Given the description of an element on the screen output the (x, y) to click on. 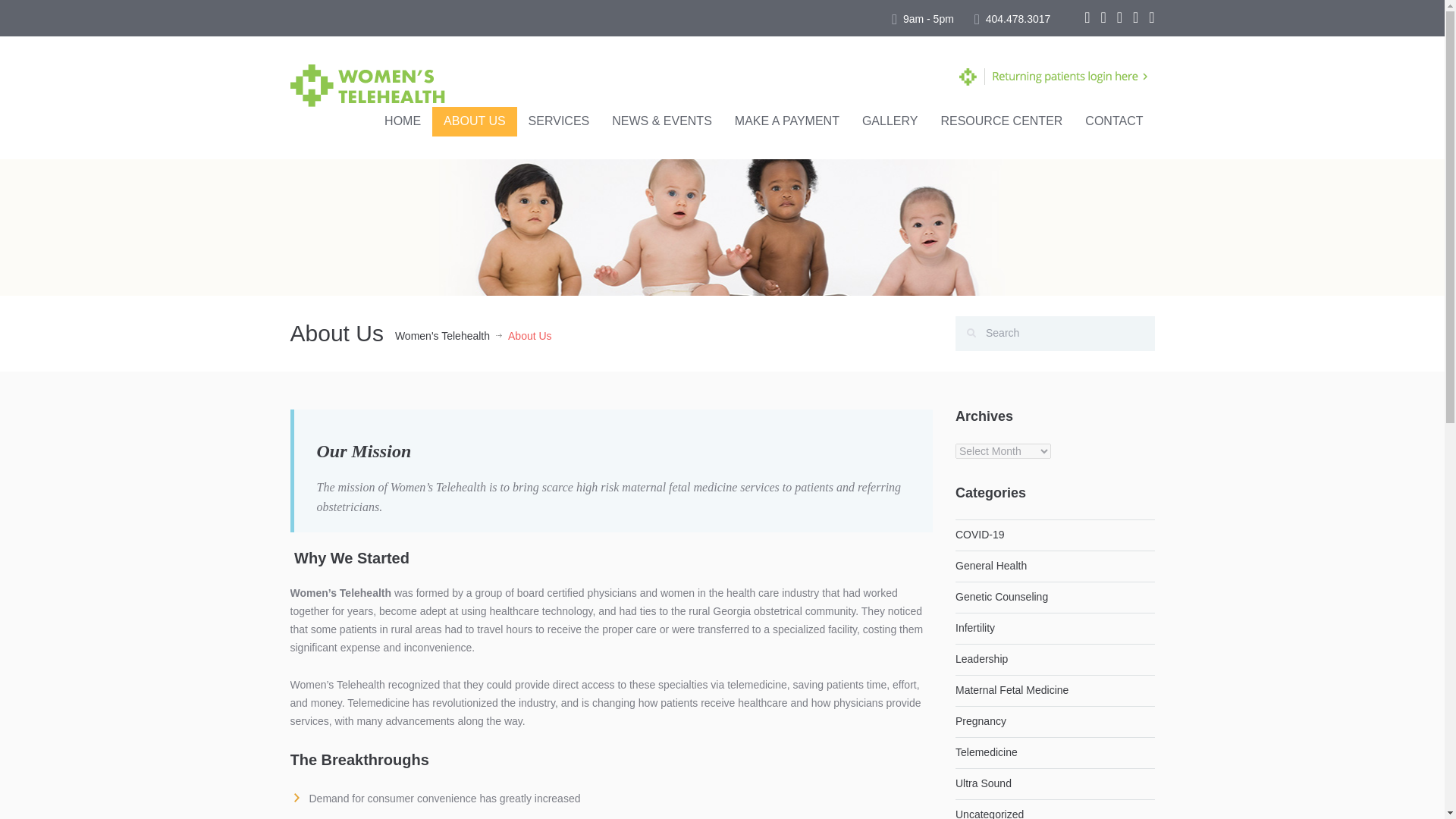
ABOUT US (474, 121)
Pregnancy (980, 720)
Infertility (974, 627)
General Health (990, 565)
HOME (402, 121)
MAKE A PAYMENT (786, 121)
COVID-19 (979, 534)
GALLERY (890, 121)
Telemedicine (986, 752)
Women's Telehealth (441, 336)
